Given the description of an element on the screen output the (x, y) to click on. 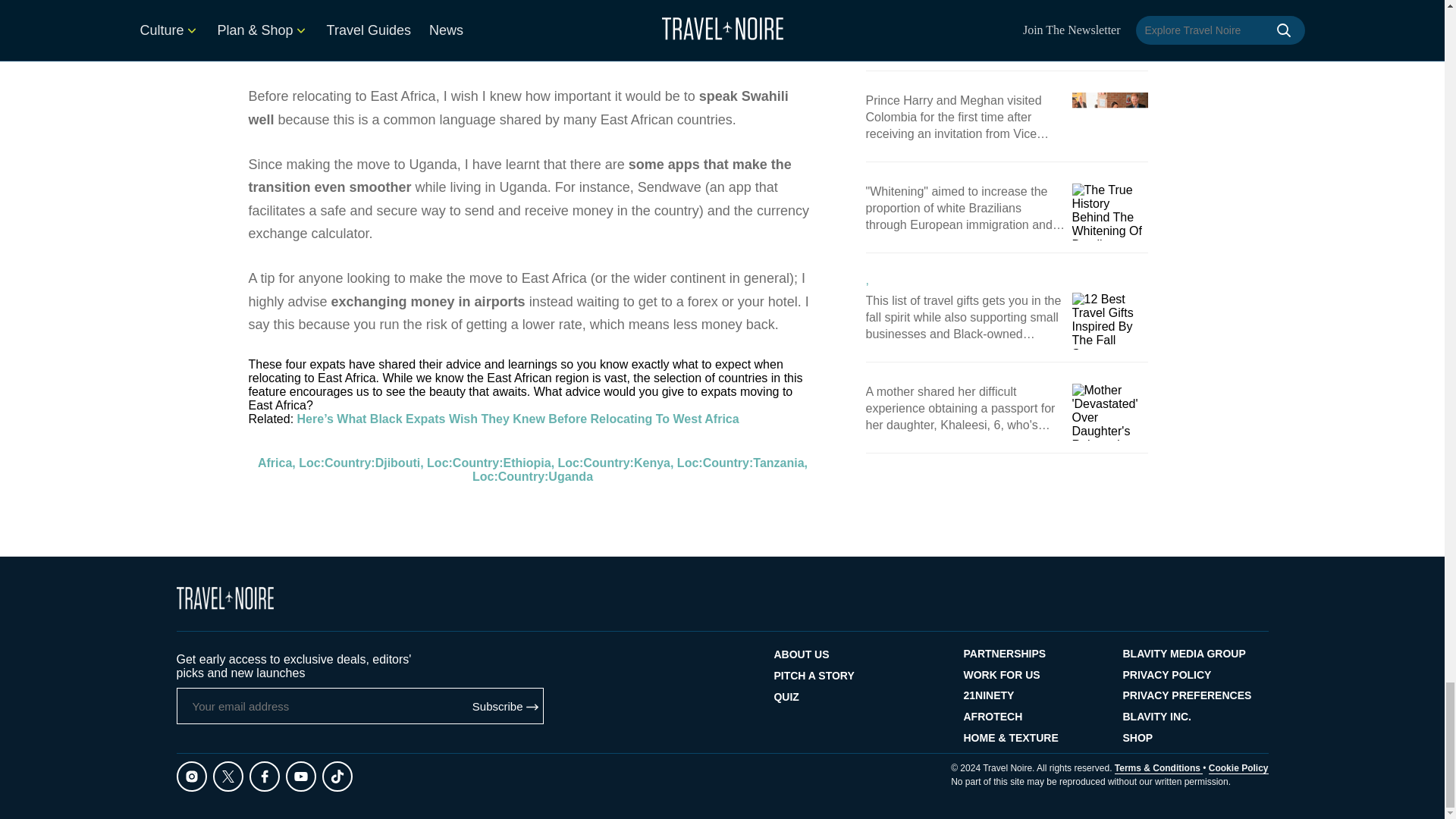
Loc:Country:Djibouti (359, 462)
Travel Noire (224, 598)
Africa (274, 462)
YouTube channel (493, 28)
